Given the description of an element on the screen output the (x, y) to click on. 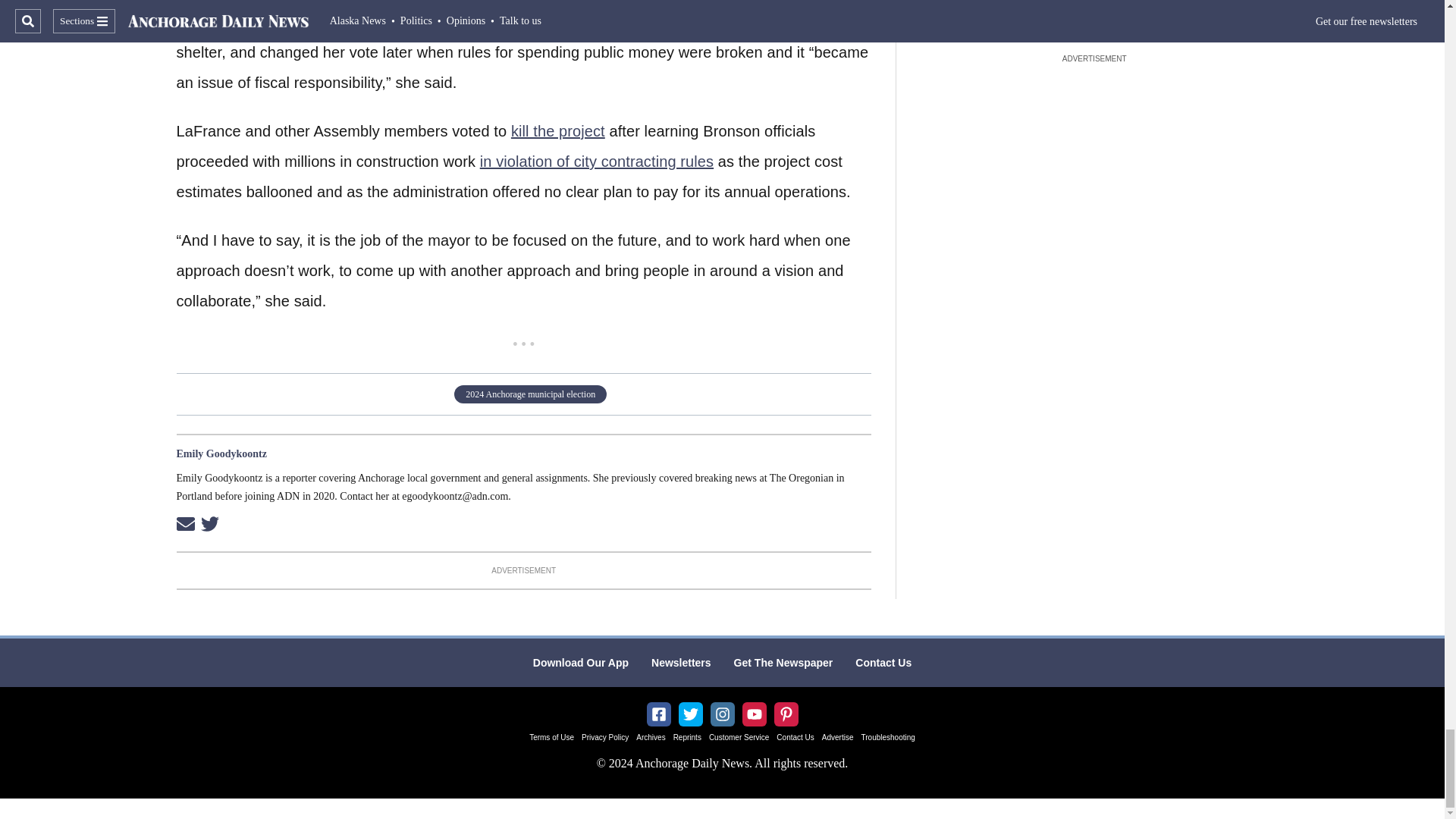
YouTube iconAnchorage Daily News YouTube channel (753, 713)
Instagram IconAnchorage Daily News instagram account (721, 713)
PinterestAnchorage Daily News Pinterest Account (785, 713)
Twitter IconTwitter Account for Anchorage Daily News (689, 713)
Facebook IconAnchorage Daily News Facebook Page (657, 713)
